Given the description of an element on the screen output the (x, y) to click on. 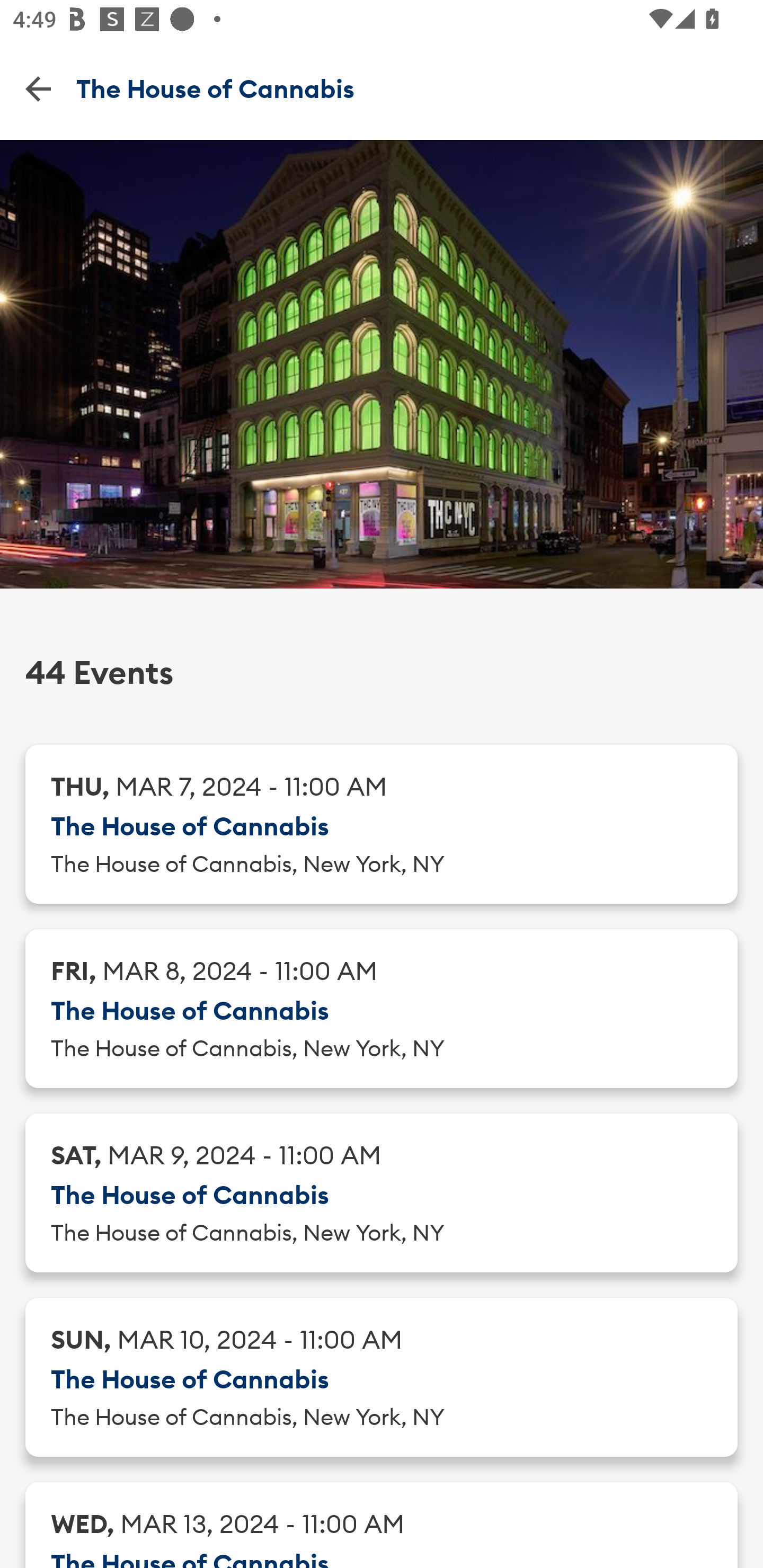
Back (38, 88)
WED, MAR 13, 2024 - 11:00 AM The House of Cannabis (381, 1524)
